Given the description of an element on the screen output the (x, y) to click on. 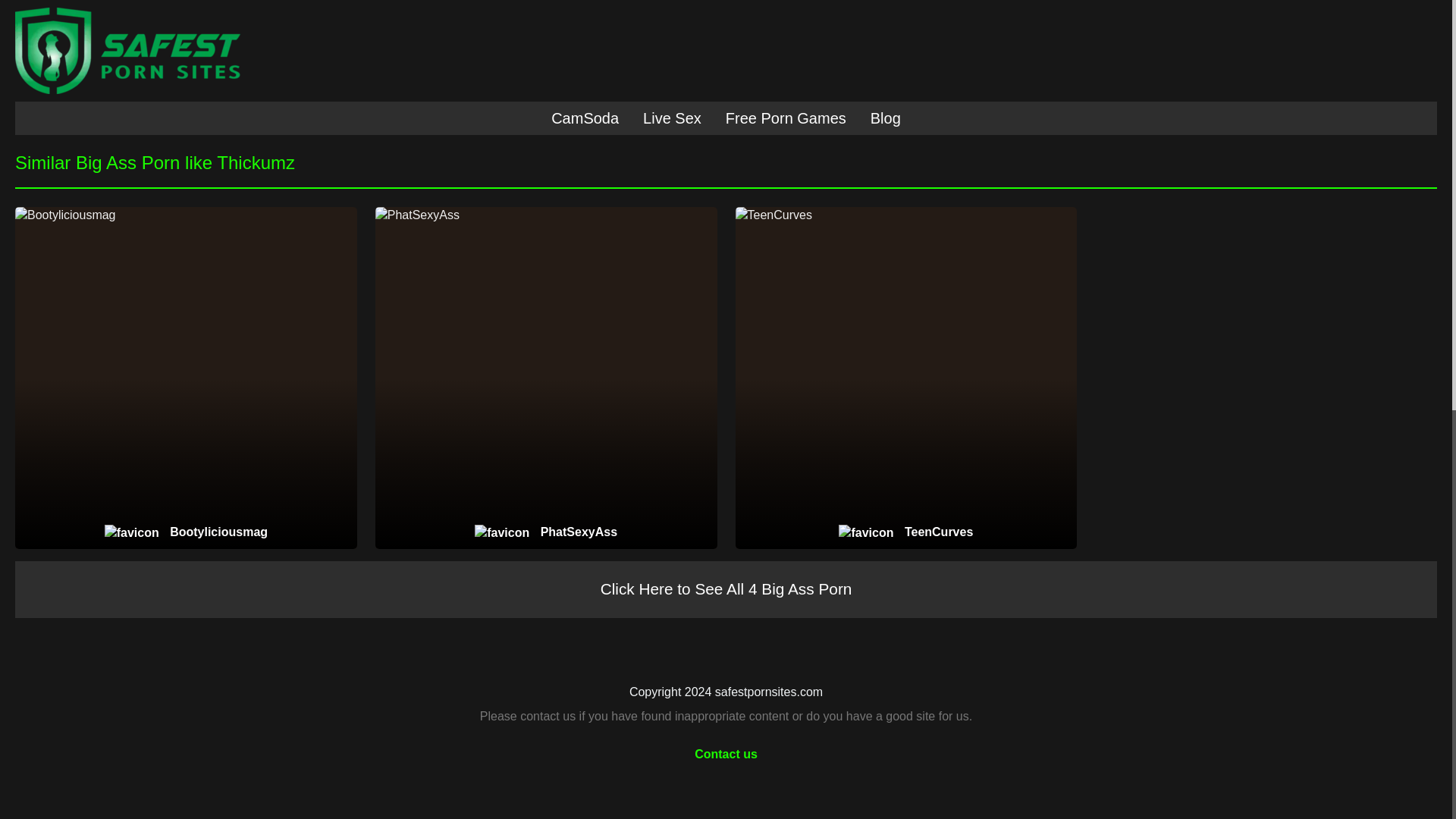
Visit Thickumz.com (365, 78)
Bootyliciousmag (185, 532)
PhatSexyAss (545, 532)
TeenCurves (905, 532)
Click Here to See All 4 Big Ass Porn (725, 589)
See All 4 Big Ass Porn (1086, 78)
